Given the description of an element on the screen output the (x, y) to click on. 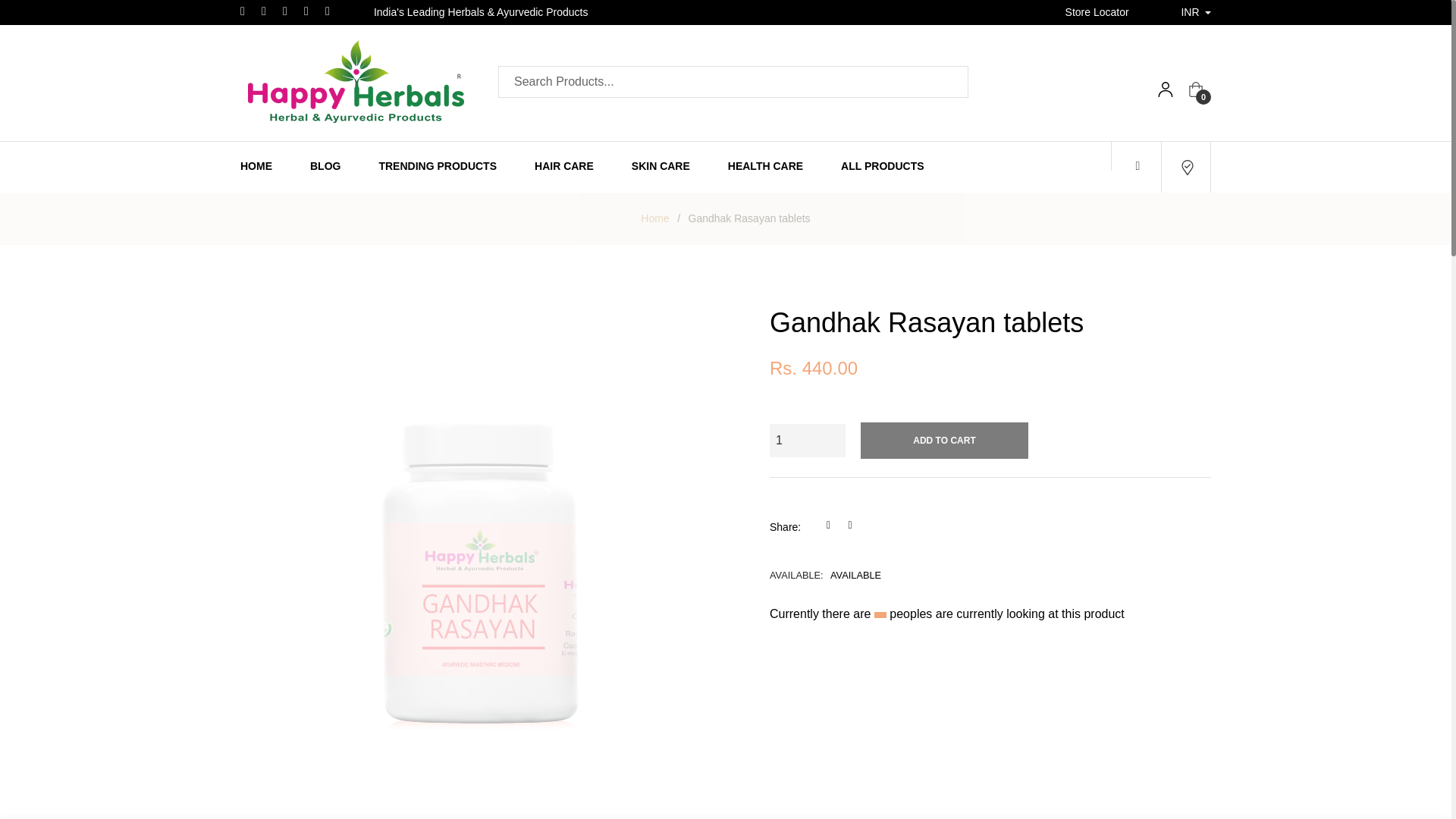
Store Locator (1097, 11)
Home (655, 218)
Happy Herbals on Facebook (248, 11)
SKIN CARE (660, 165)
SEARCH (940, 81)
Store Locator (1097, 11)
Happy Herbals on Twitter (269, 11)
Shopping Cart (1196, 88)
Currencies (1195, 12)
Happy Herbals on Instagram (311, 11)
Store Locator (1138, 165)
HAIR CARE (563, 165)
Happy Herbals on YouTube (332, 11)
Pin (290, 11)
You (332, 11)
